Given the description of an element on the screen output the (x, y) to click on. 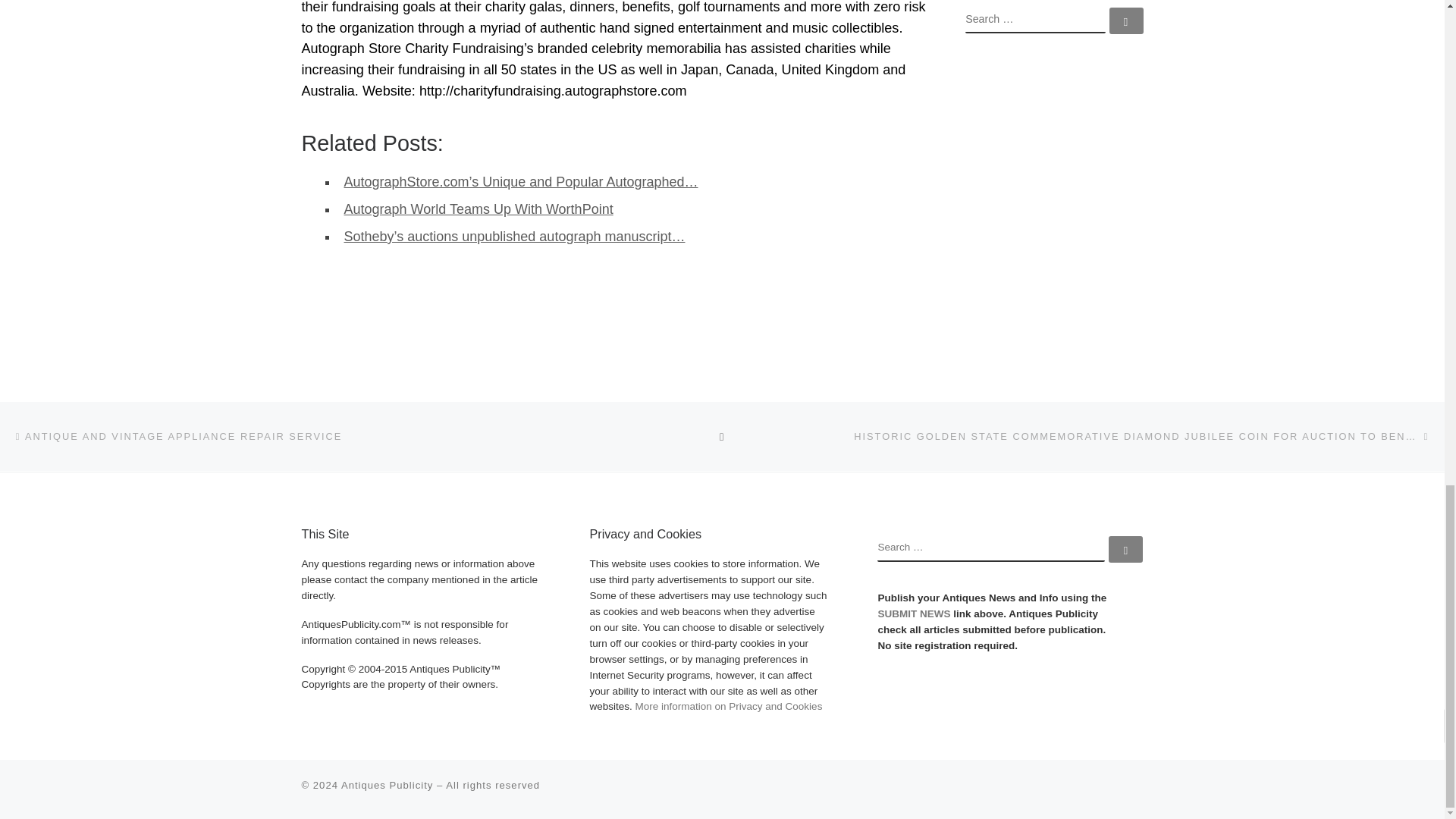
Autograph World Teams Up With WorthPoint (477, 209)
ANTIQUE AND VINTAGE APPLIANCE REPAIR SERVICE (176, 436)
Antiques Publicity (386, 785)
